Given the description of an element on the screen output the (x, y) to click on. 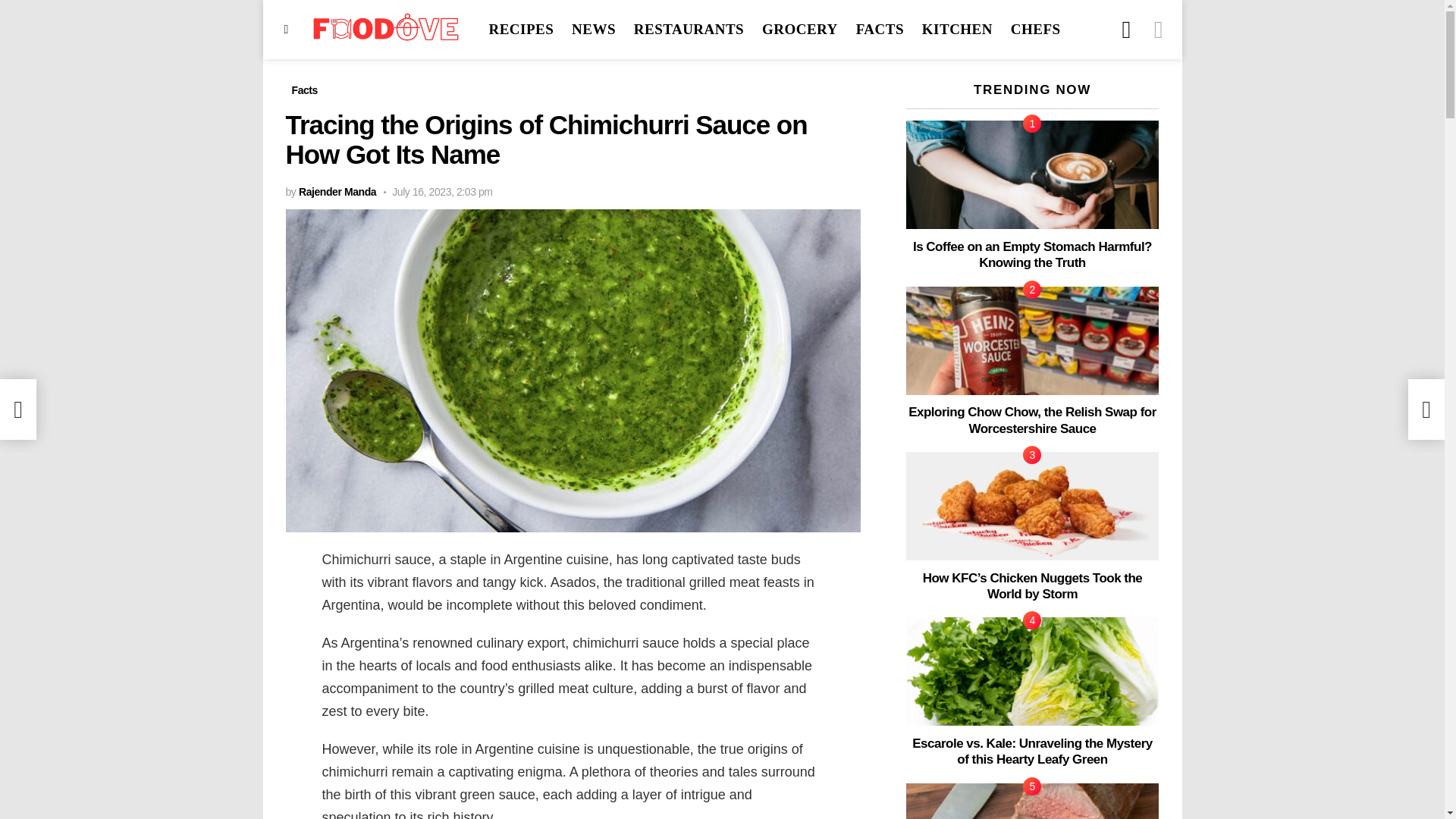
FACTS (879, 29)
Menu (286, 29)
Posts by Rajender Manda (336, 191)
Rajender Manda (336, 191)
NEWS (593, 29)
CHEFS (1035, 29)
RECIPES (520, 29)
GROCERY (799, 29)
RESTAURANTS (688, 29)
KITCHEN (957, 29)
Facts (304, 89)
